Given the description of an element on the screen output the (x, y) to click on. 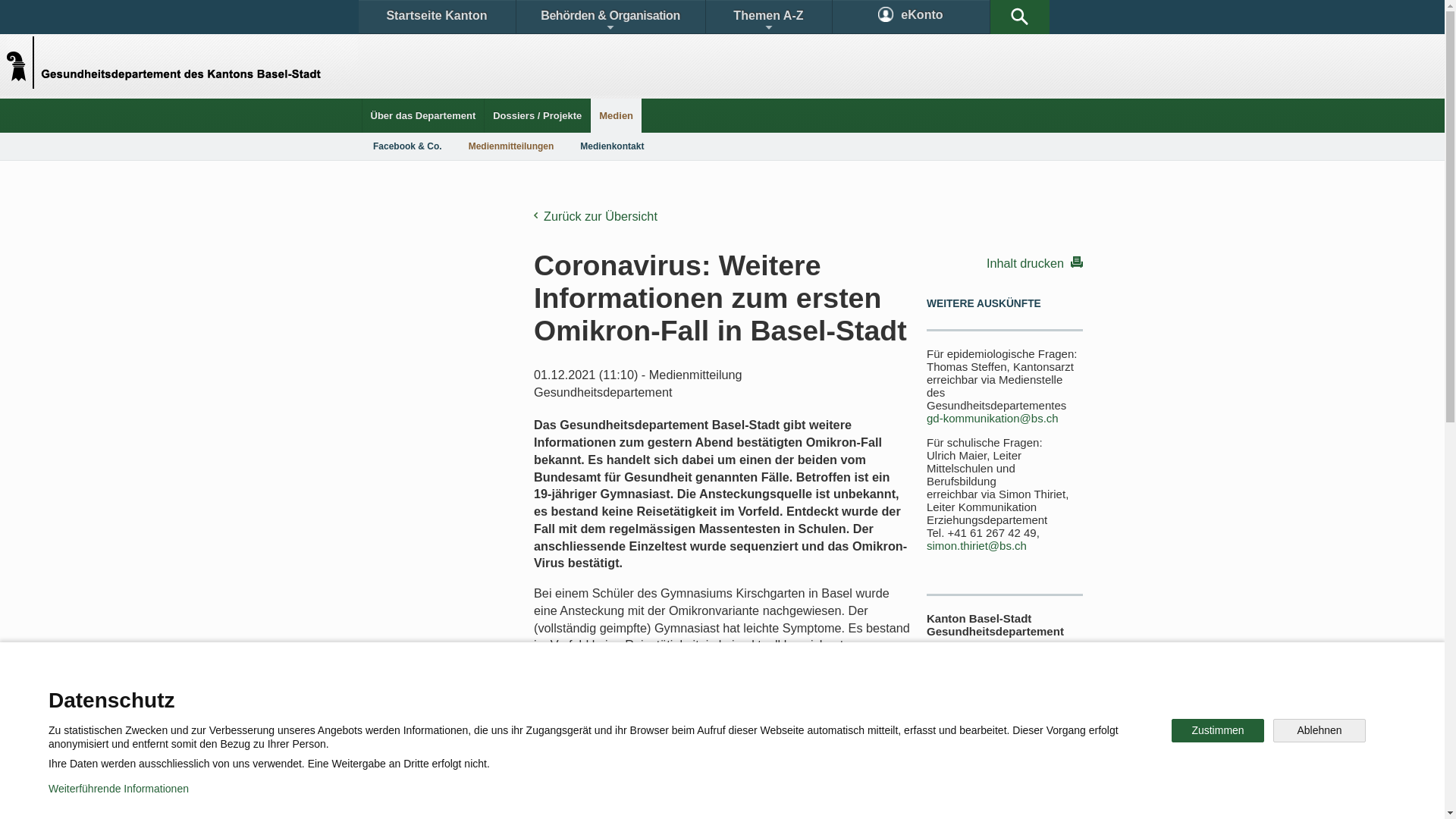
Facebook Element type: text (547, 746)
gd-kommunikation@bs.ch Element type: text (983, 738)
Nutzungsregelungen Element type: text (542, 796)
Instagram Element type: text (738, 746)
gd-kommunikation@bs.ch Element type: text (992, 417)
Zur mobilen Ansicht Element type: text (752, 796)
Ablehnen Element type: text (1319, 730)
Twitter Element type: text (642, 746)
Stadtplan & Karte Element type: text (504, 693)
Publikationen Element type: text (795, 693)
eKonto Element type: text (910, 17)
Startseite Kanton Element type: text (435, 17)
simon.thiriet@bs.ch Element type: text (976, 545)
www.gd.bs.ch Element type: text (1007, 770)
+41 (0)61 267 90 00 Element type: text (977, 705)
Kontakt Element type: text (406, 693)
Bild & Multimedia Element type: text (908, 693)
Medienmitteilungen Element type: text (511, 145)
Dossiers / Projekte Element type: text (536, 115)
Impressum Element type: text (648, 796)
Medienkontakt Element type: text (611, 145)
LinkedIn Element type: text (839, 746)
Statistiken Element type: text (687, 693)
Xing Element type: text (924, 746)
Medien Element type: text (615, 115)
Gesetze Element type: text (597, 693)
Inhalt drucken Element type: text (1004, 261)
Themen A-Z Element type: text (768, 17)
Facebook & Co. Element type: text (407, 145)
Zustimmen Element type: text (1217, 730)
